Given the description of an element on the screen output the (x, y) to click on. 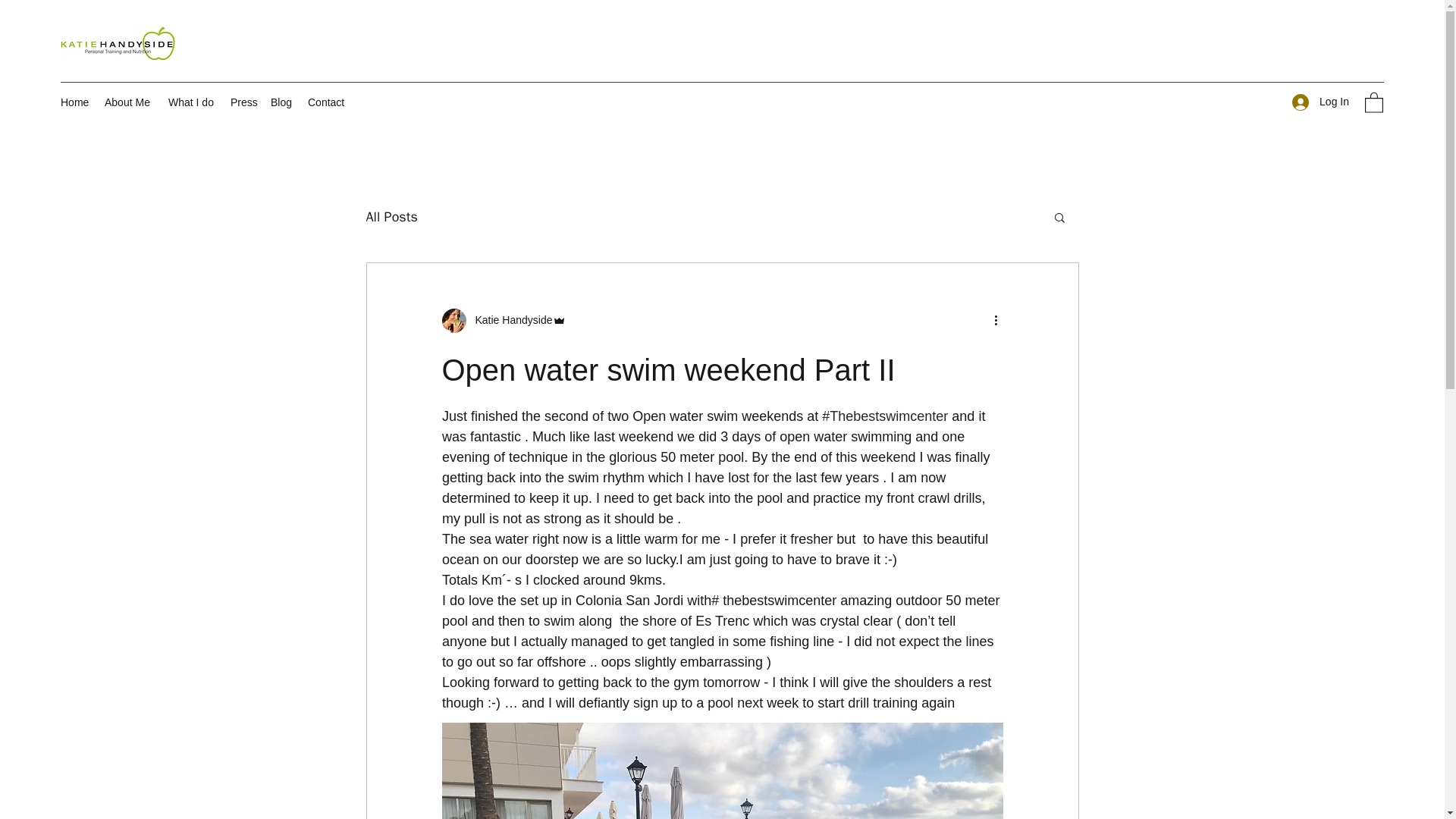
Katie Handyside (508, 320)
About Me (128, 101)
Press (242, 101)
Blog (281, 101)
What I do (191, 101)
Log In (1320, 101)
Contact (326, 101)
Home (74, 101)
Katie Handyside (503, 320)
All Posts (390, 217)
